Given the description of an element on the screen output the (x, y) to click on. 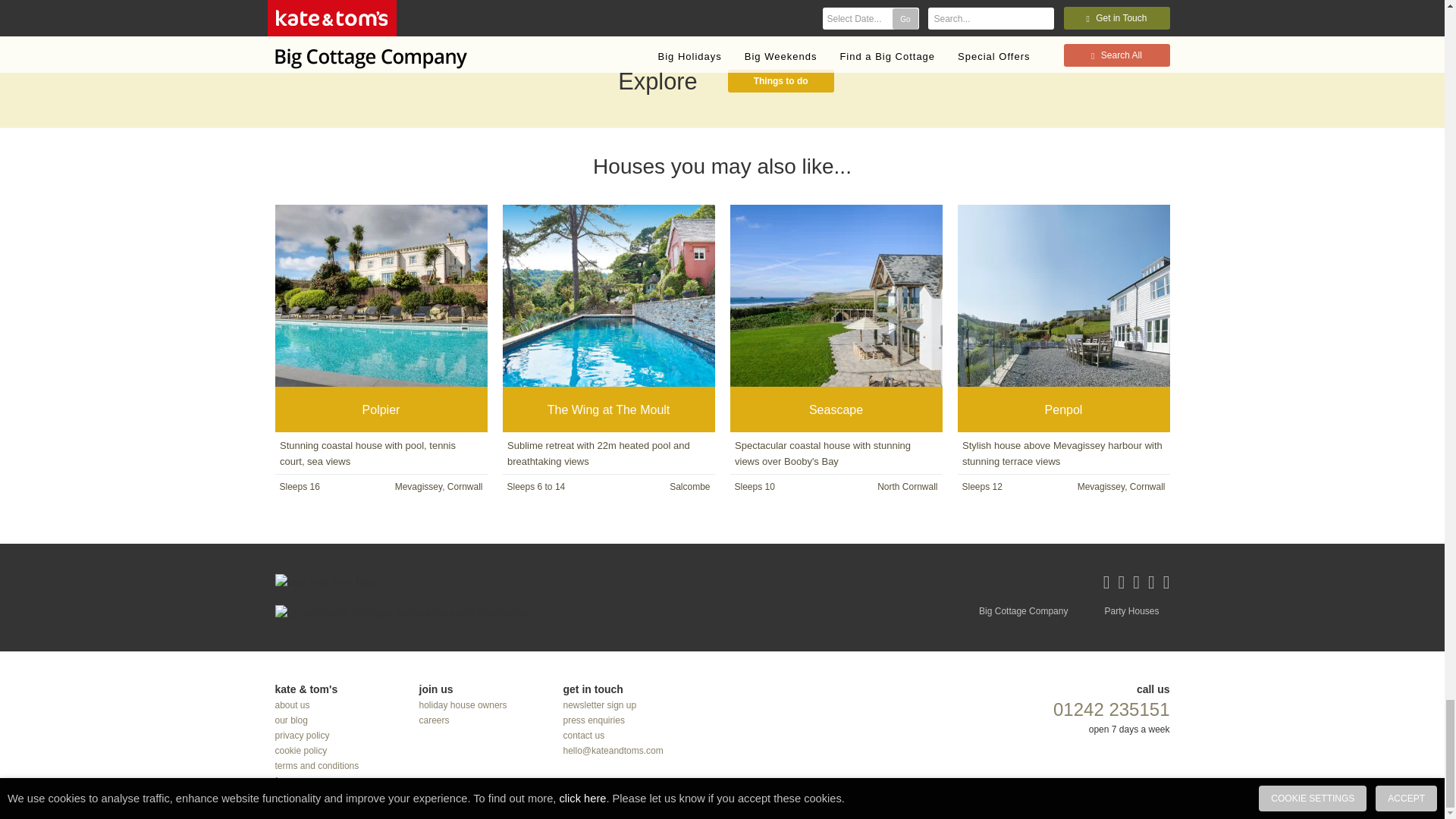
Big Cottage Company (1023, 611)
Things to do (781, 80)
Party Houses (1131, 611)
